Given the description of an element on the screen output the (x, y) to click on. 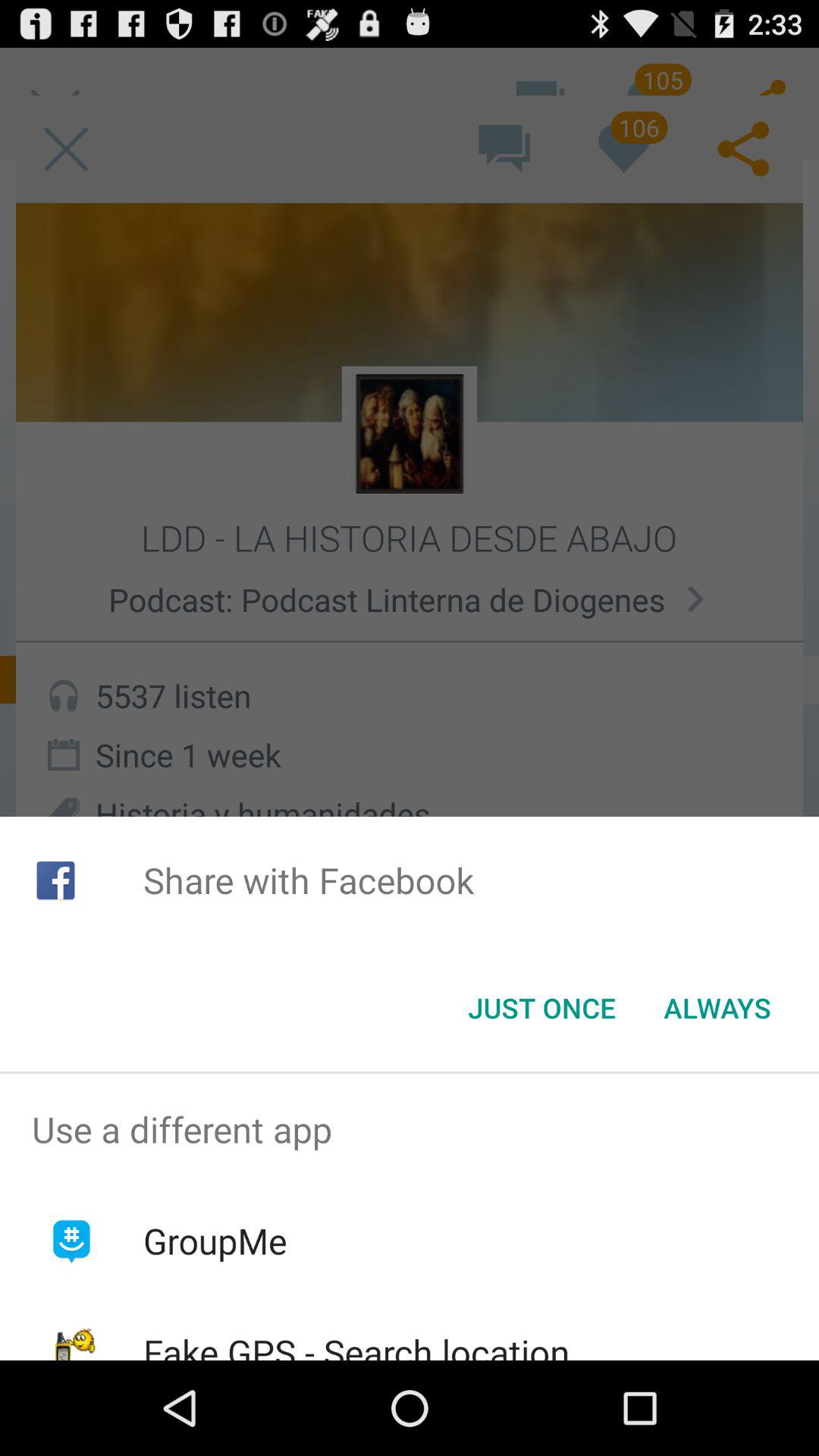
select the button to the left of always button (541, 1007)
